Given the description of an element on the screen output the (x, y) to click on. 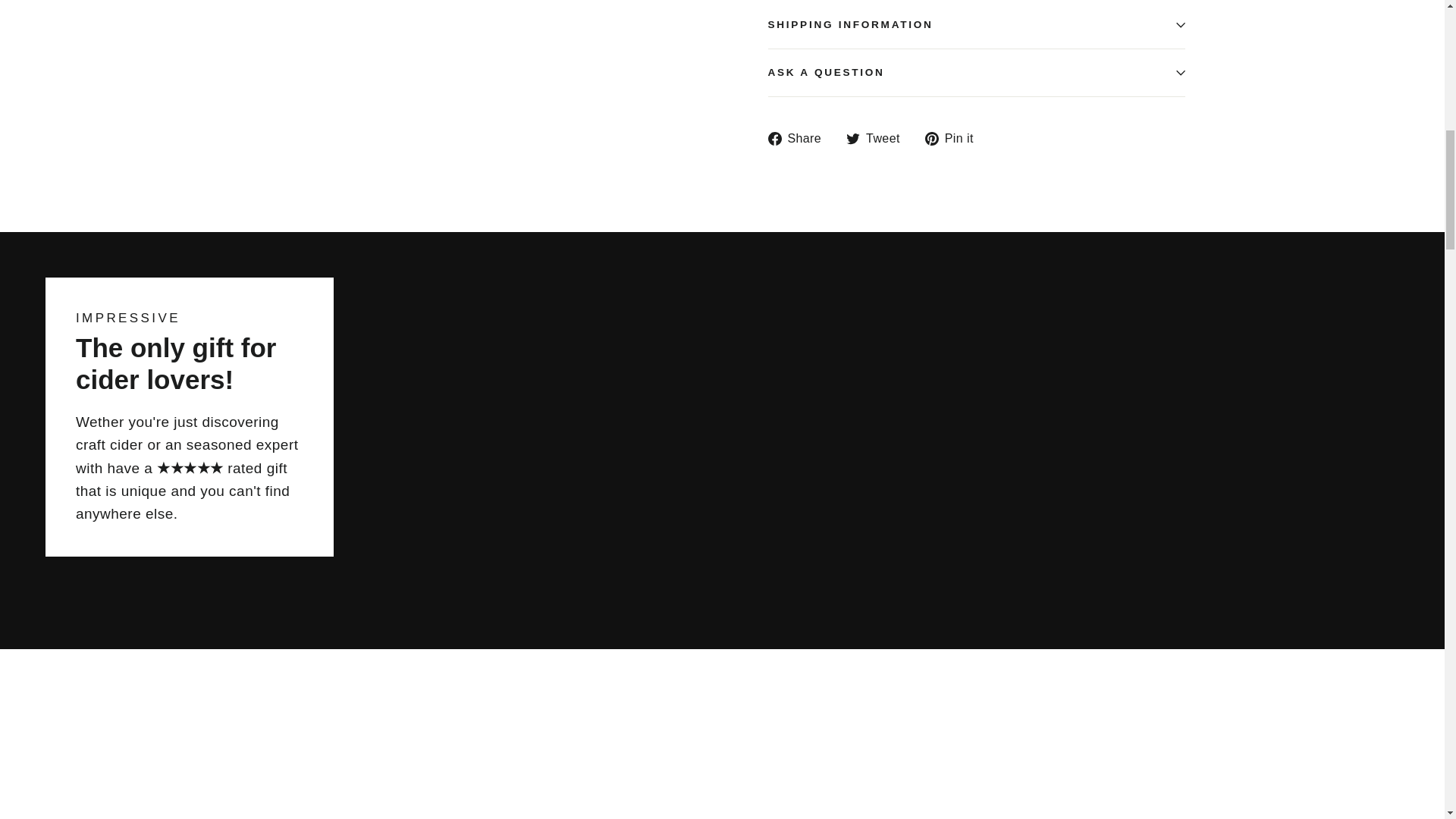
Pin on Pinterest (954, 137)
Share on Facebook (799, 137)
Tweet on Twitter (878, 137)
